Given the description of an element on the screen output the (x, y) to click on. 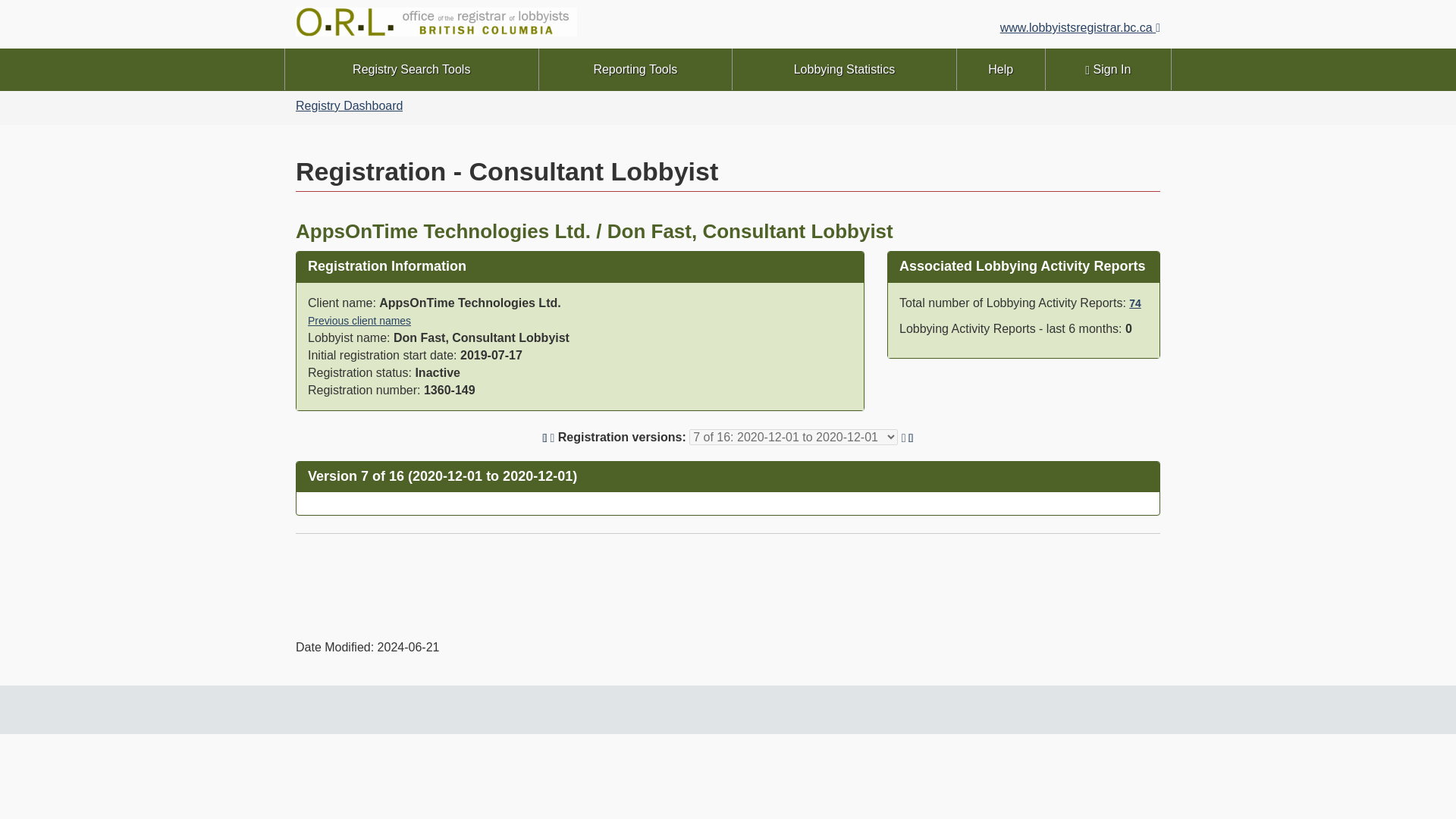
Office of the Registrar or Lobbying of BC (505, 23)
Registry Search Tools (411, 69)
www.lobbyistsregistrar.bc.ca (1080, 27)
Sign In (1107, 69)
Skip to main content (731, 11)
Registry Dashboard (349, 105)
Previous client names (358, 320)
Help (1000, 69)
Reporting Tools (635, 69)
Lobbying Statistics (844, 69)
